Given the description of an element on the screen output the (x, y) to click on. 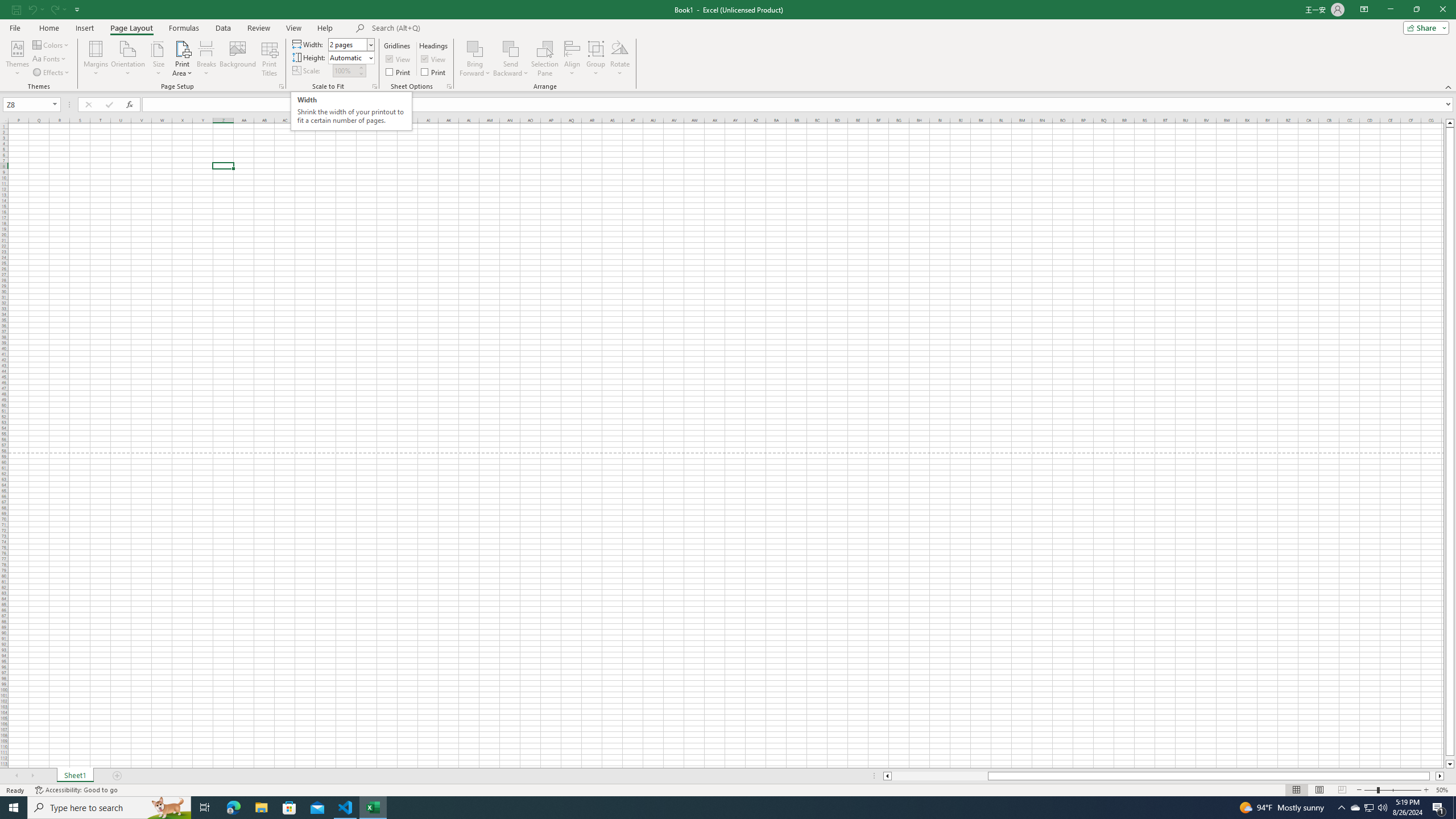
Print Area (182, 58)
Line up (1449, 122)
File Tab (15, 27)
Effects (51, 72)
Sheet1 (74, 775)
Selection Pane... (544, 58)
Zoom In (1426, 790)
Insert (83, 28)
Customize Quick Access Toolbar (77, 9)
